Given the description of an element on the screen output the (x, y) to click on. 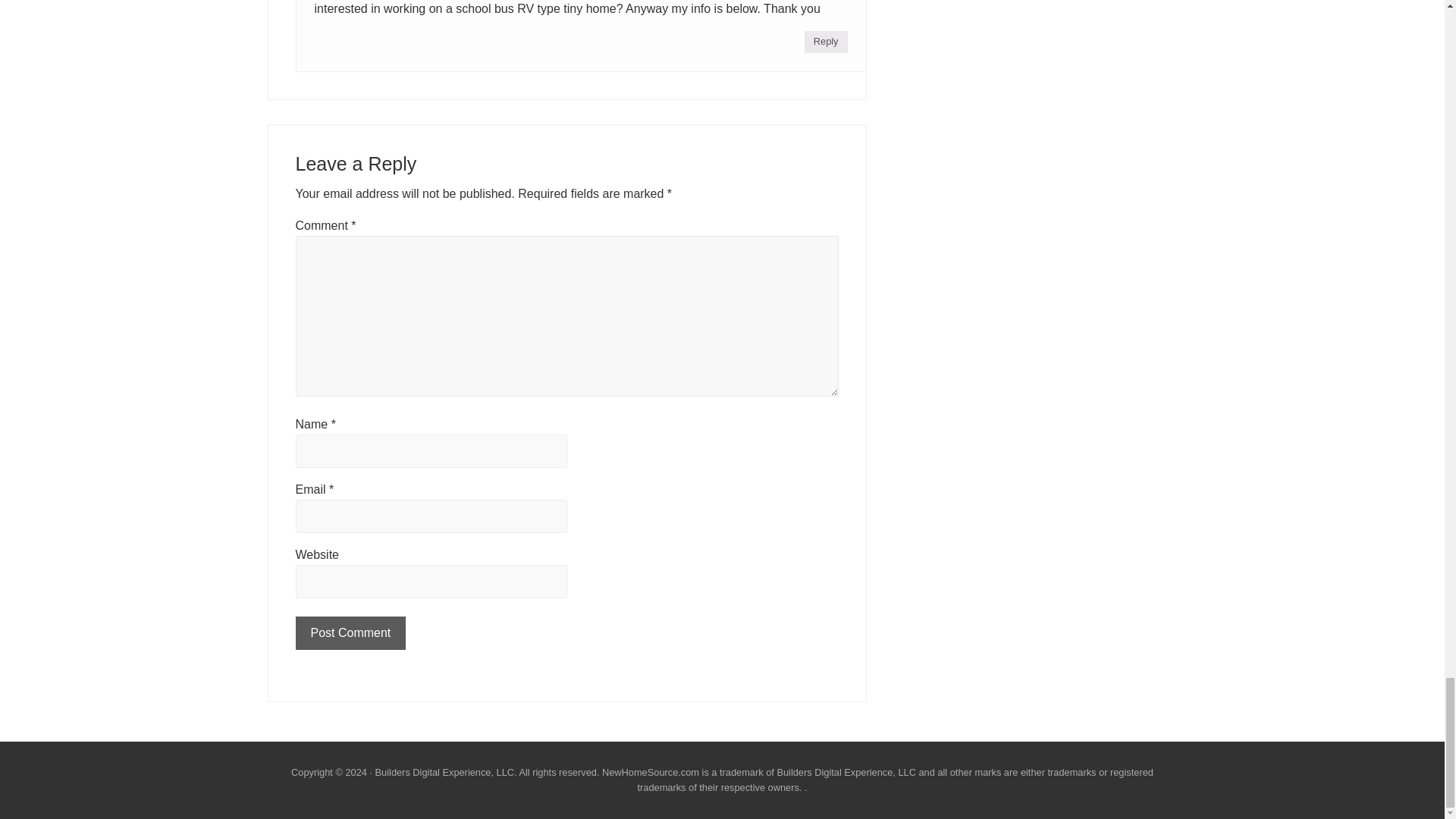
Reply (826, 42)
Post Comment (350, 633)
Post Comment (350, 633)
